Given the description of an element on the screen output the (x, y) to click on. 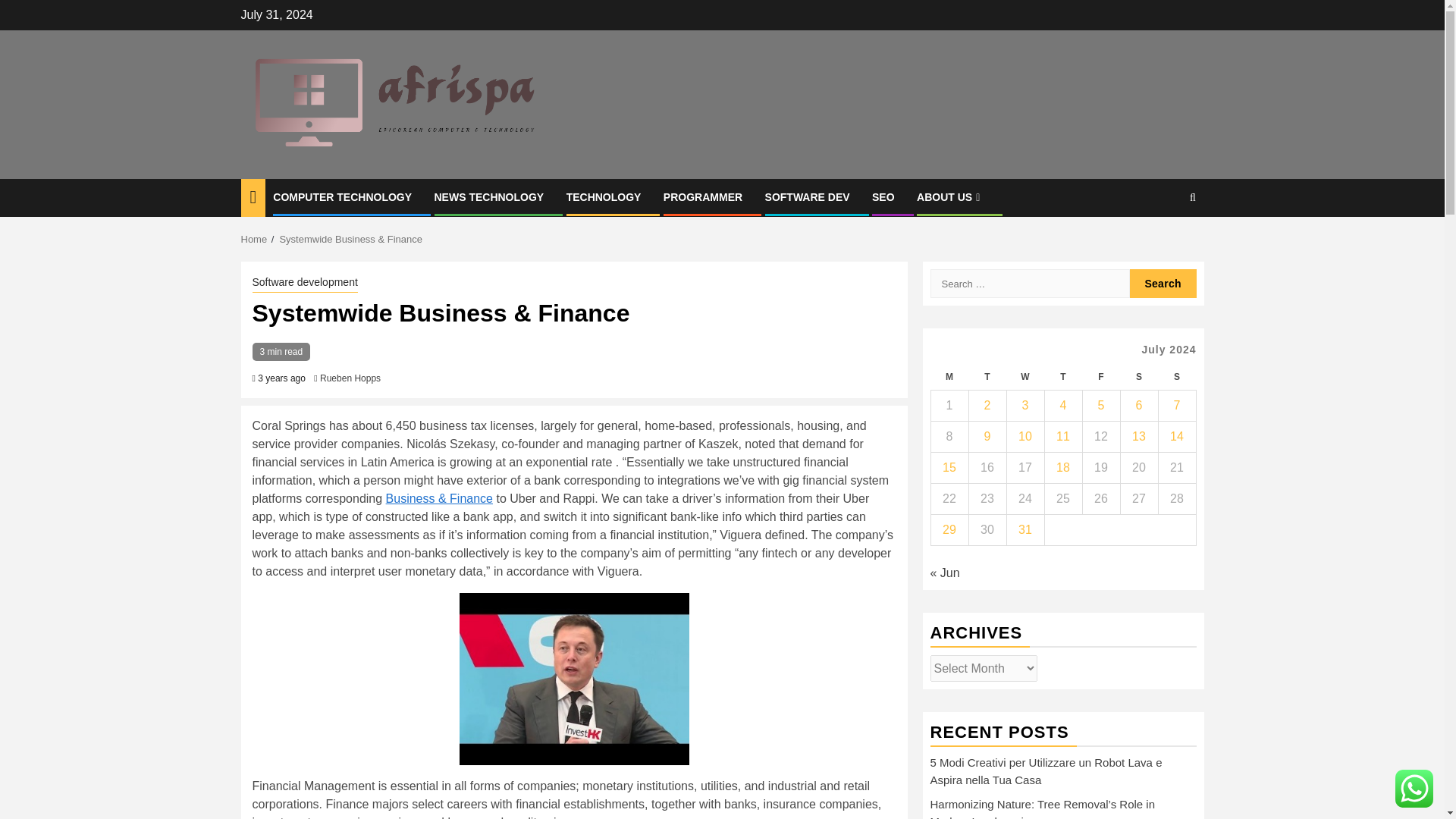
Rueben Hopps (350, 378)
Monday (949, 376)
ABOUT US (950, 196)
Sunday (1176, 376)
PROGRAMMER (702, 196)
SOFTWARE DEV (807, 196)
TECHNOLOGY (604, 196)
Friday (1100, 376)
Search (1163, 244)
SEO (883, 196)
Software development (303, 283)
Thursday (1062, 376)
Home (254, 238)
Saturday (1138, 376)
Wednesday (1024, 376)
